Given the description of an element on the screen output the (x, y) to click on. 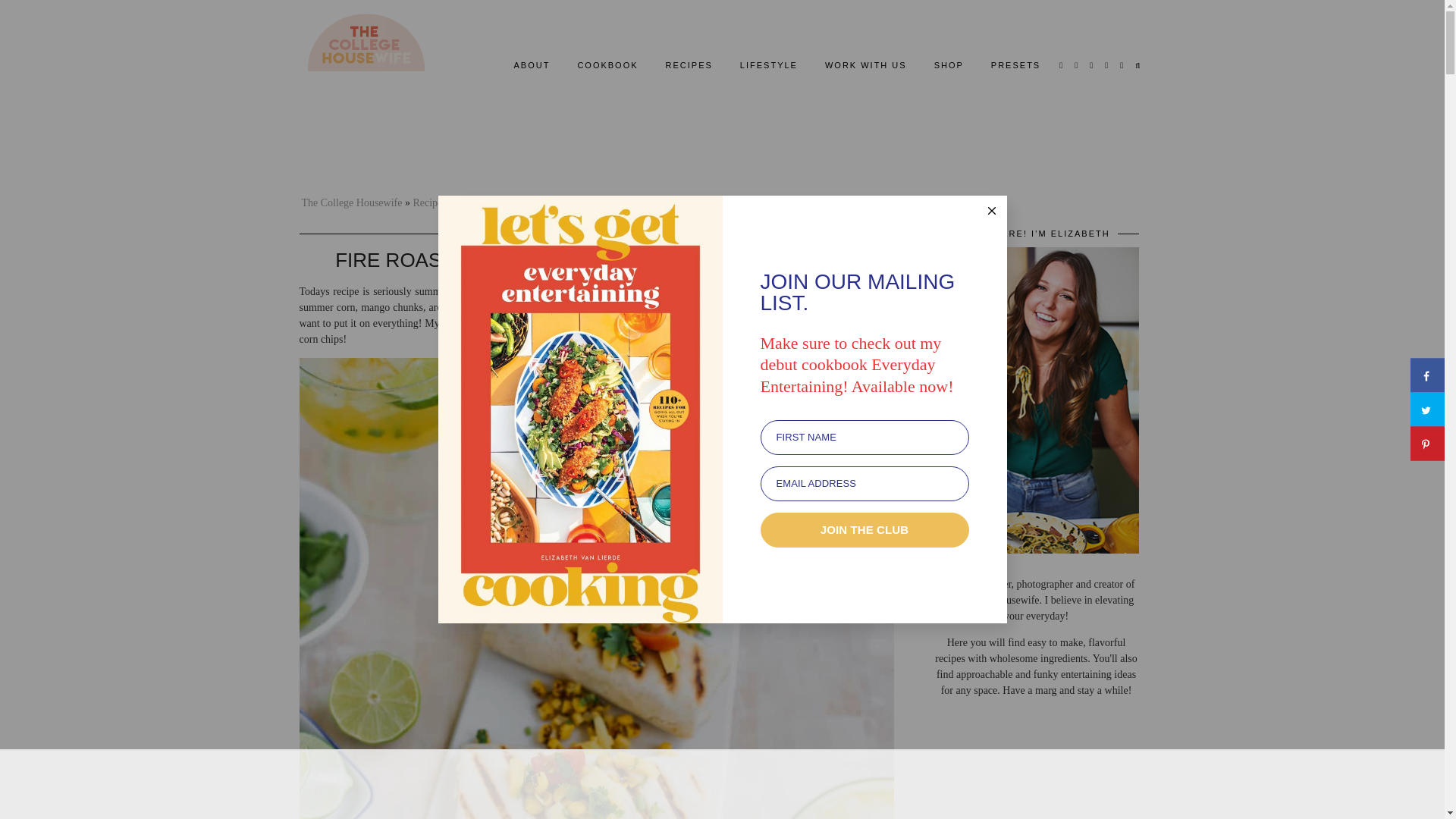
ABOUT (531, 63)
COOKBOOK (606, 63)
College Housewife (365, 43)
